Given the description of an element on the screen output the (x, y) to click on. 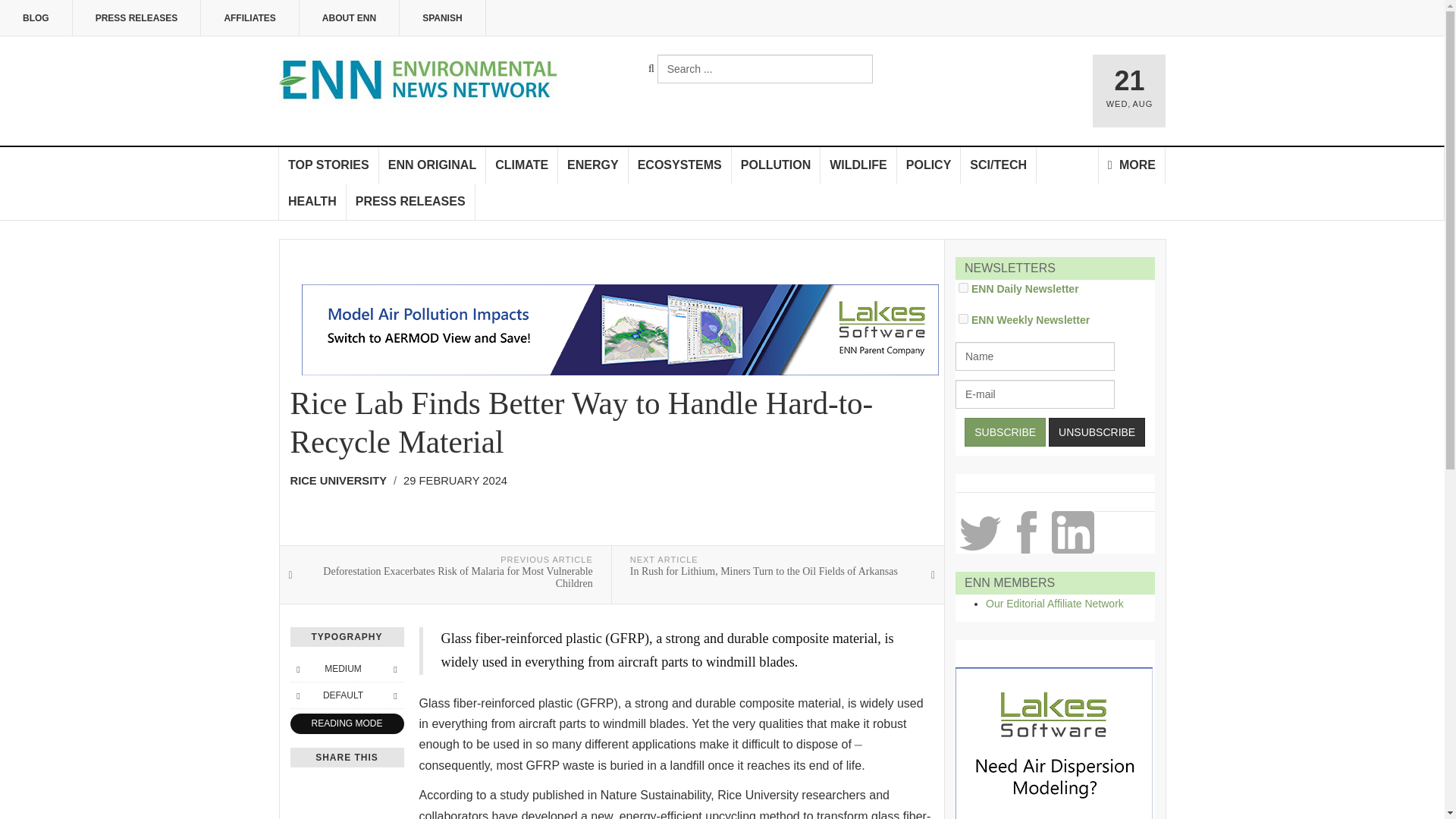
Published:  (454, 480)
Search ... (765, 68)
BLOG (36, 18)
CLIMATE (521, 165)
Previous Font Style (297, 695)
3 (963, 318)
ECOSYSTEMS (680, 165)
E-mail (1035, 394)
Smaller Font (297, 668)
AFFILIATES (249, 18)
